Given the description of an element on the screen output the (x, y) to click on. 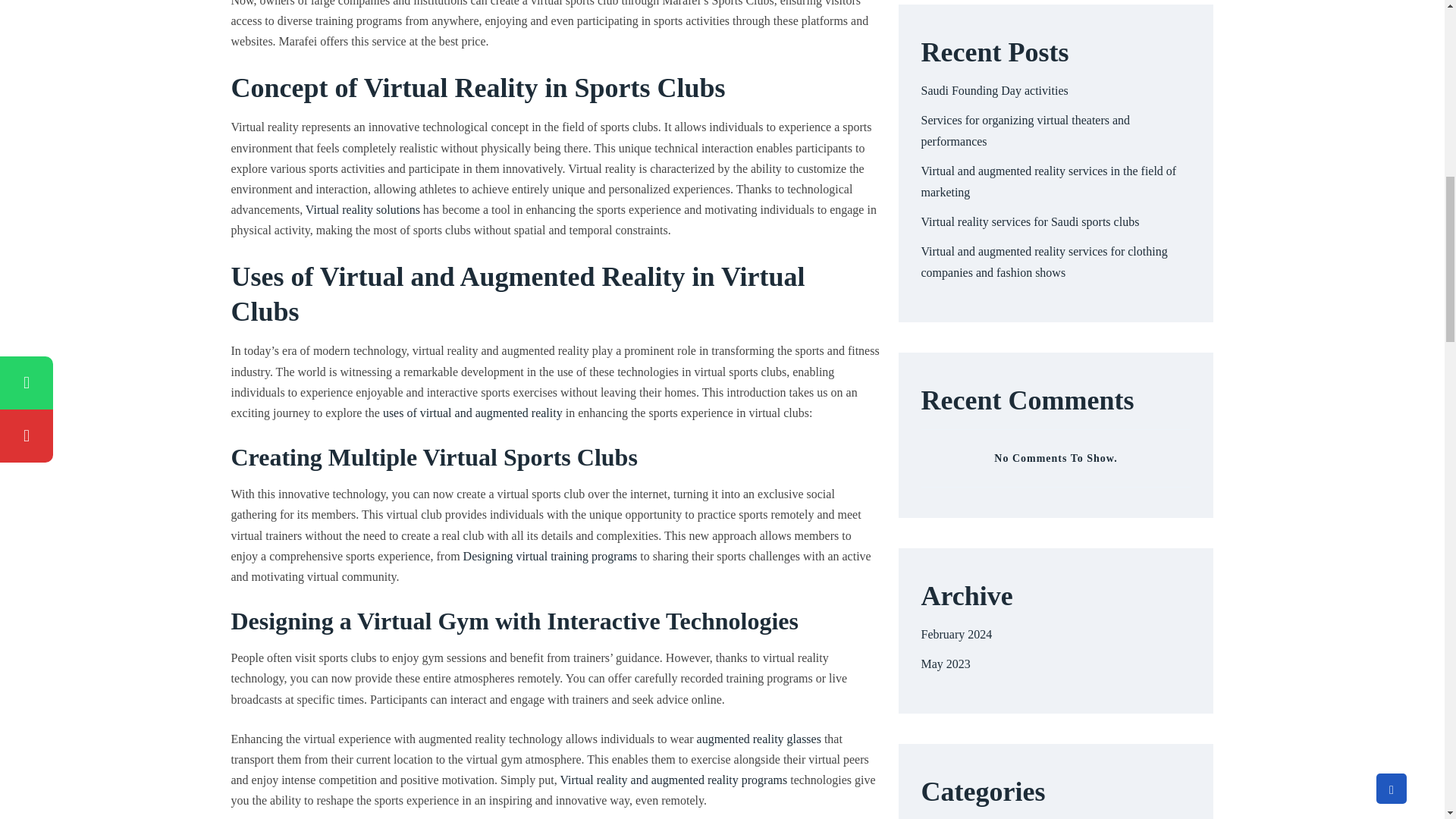
uses of virtual and augmented reality (472, 412)
Saudi Founding Day activities (993, 90)
augmented reality glasses (759, 738)
Virtual reality and augmented reality programs (673, 779)
Virtual reality solutions (362, 209)
Designing virtual training programs (550, 555)
